Given the description of an element on the screen output the (x, y) to click on. 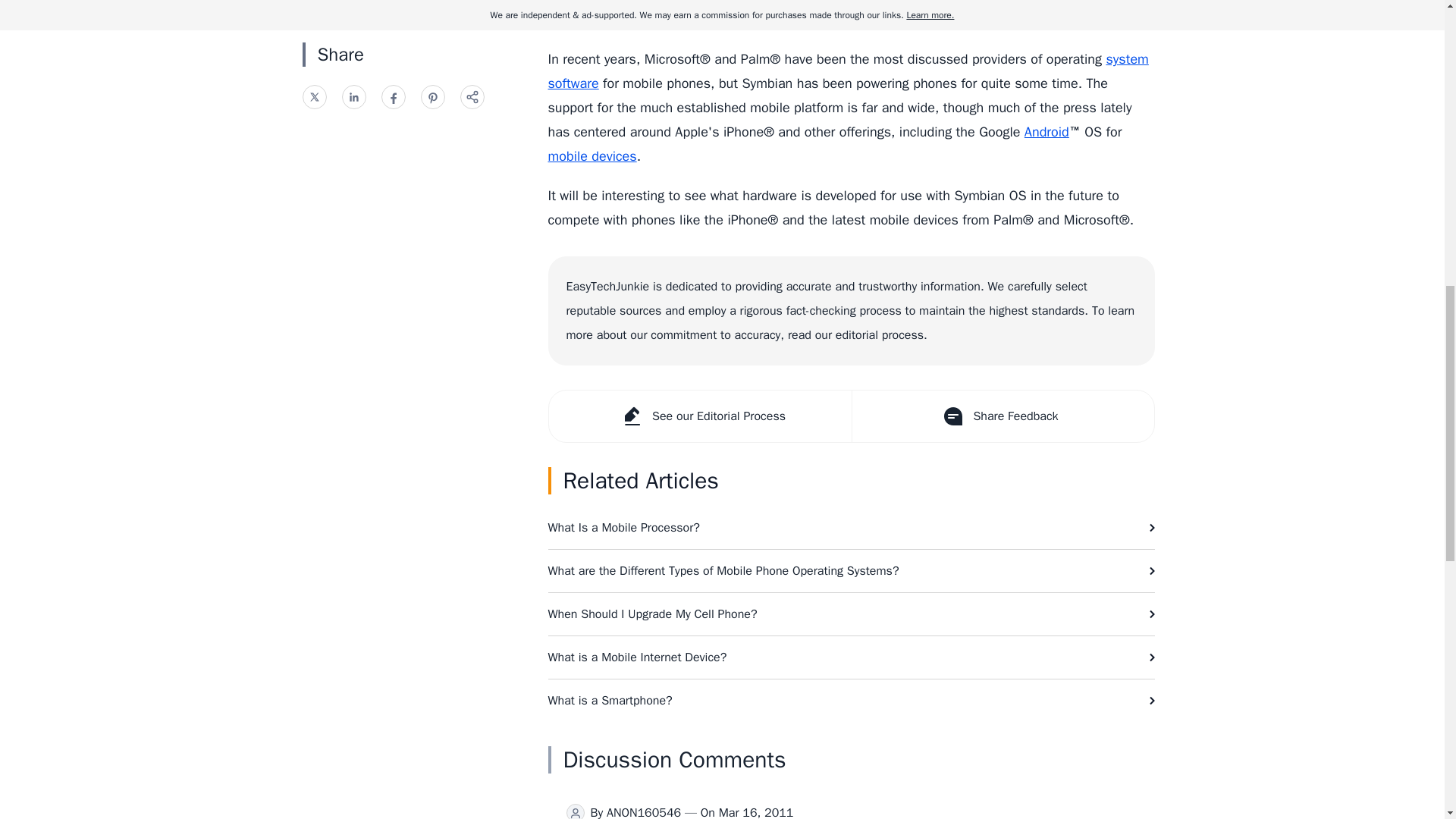
mobile devices (591, 156)
mobile phone (841, 13)
Share Feedback (1001, 416)
See our Editorial Process (699, 416)
system software (847, 70)
Android (1046, 131)
